Given the description of an element on the screen output the (x, y) to click on. 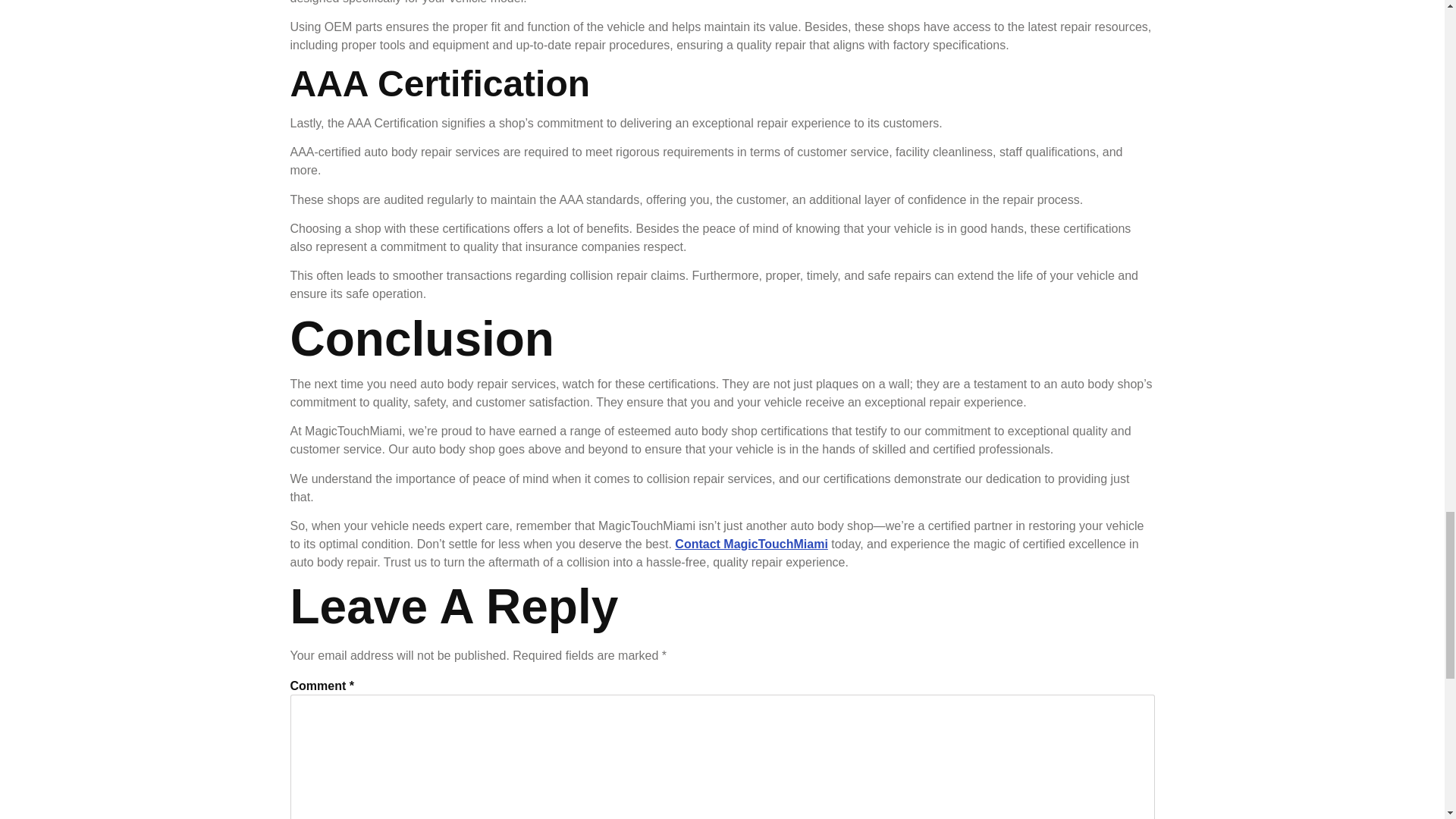
Contact MagicTouchMiami (751, 543)
